Given the description of an element on the screen output the (x, y) to click on. 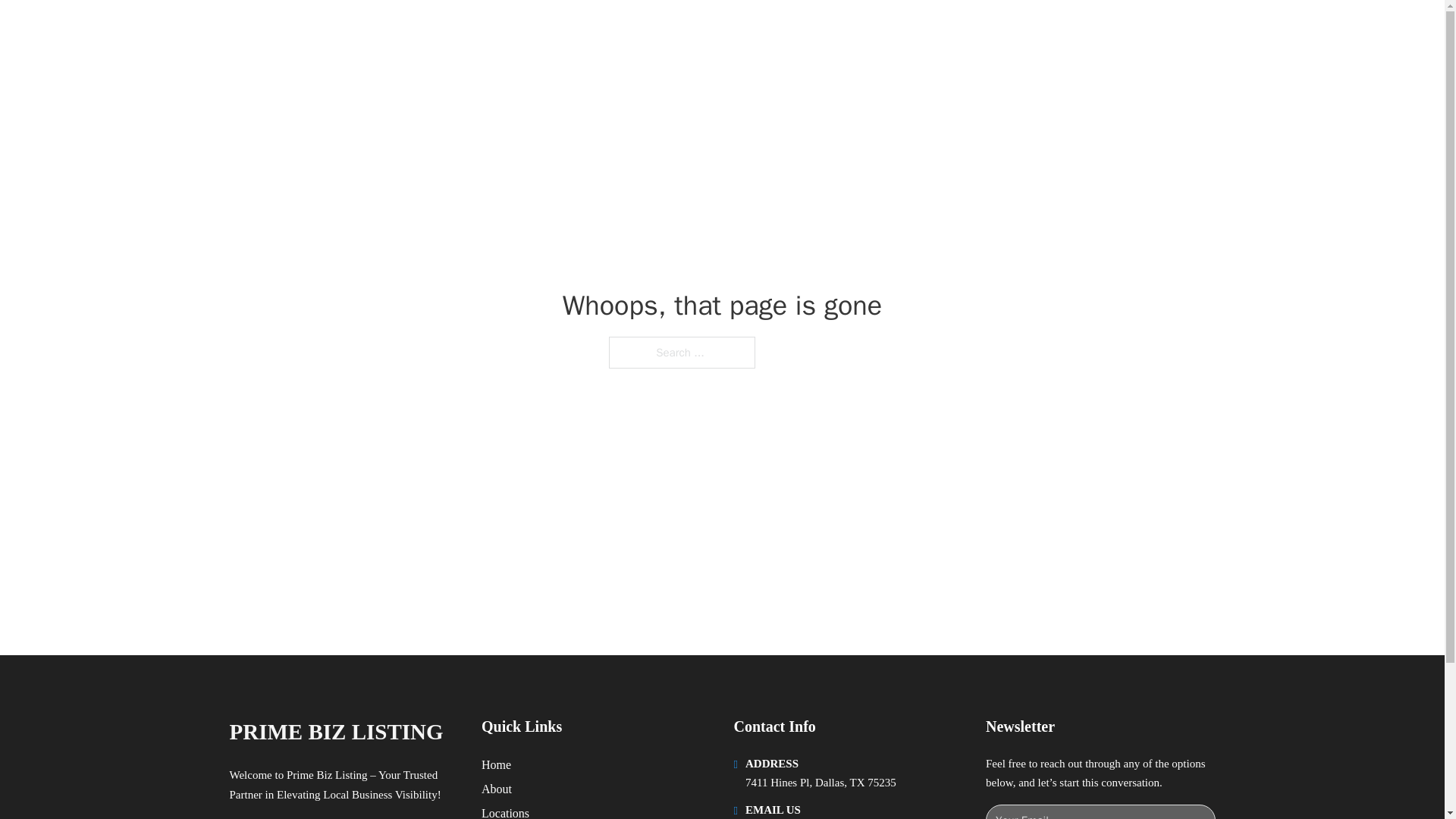
Locations (505, 811)
About (496, 788)
PRIME BIZ LISTING (404, 28)
HOME (919, 29)
PRIME BIZ LISTING (335, 732)
Home (496, 764)
LOCATIONS (990, 29)
